Given the description of an element on the screen output the (x, y) to click on. 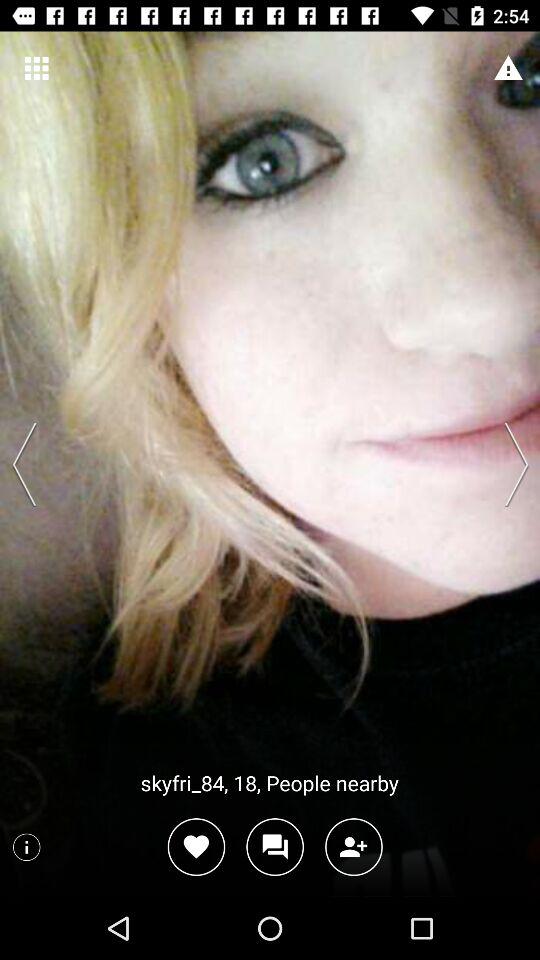
begin chat (274, 846)
